Given the description of an element on the screen output the (x, y) to click on. 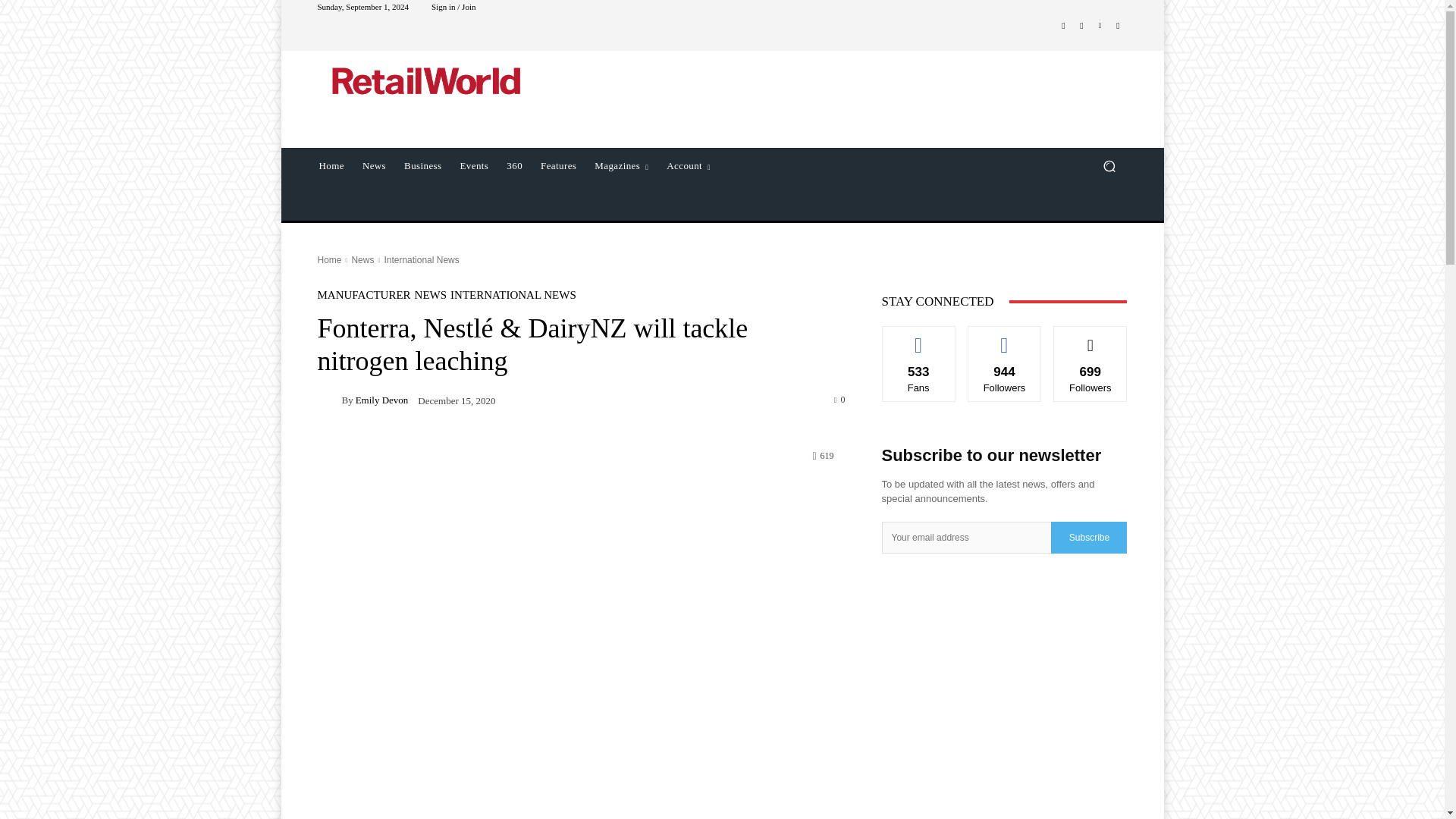
Features (558, 166)
Home (328, 259)
360 (514, 166)
View all posts in International News (421, 259)
Magazines (621, 166)
News (373, 166)
Home (330, 166)
Twitter (1117, 25)
News (362, 259)
Facebook (1062, 25)
